Given the description of an element on the screen output the (x, y) to click on. 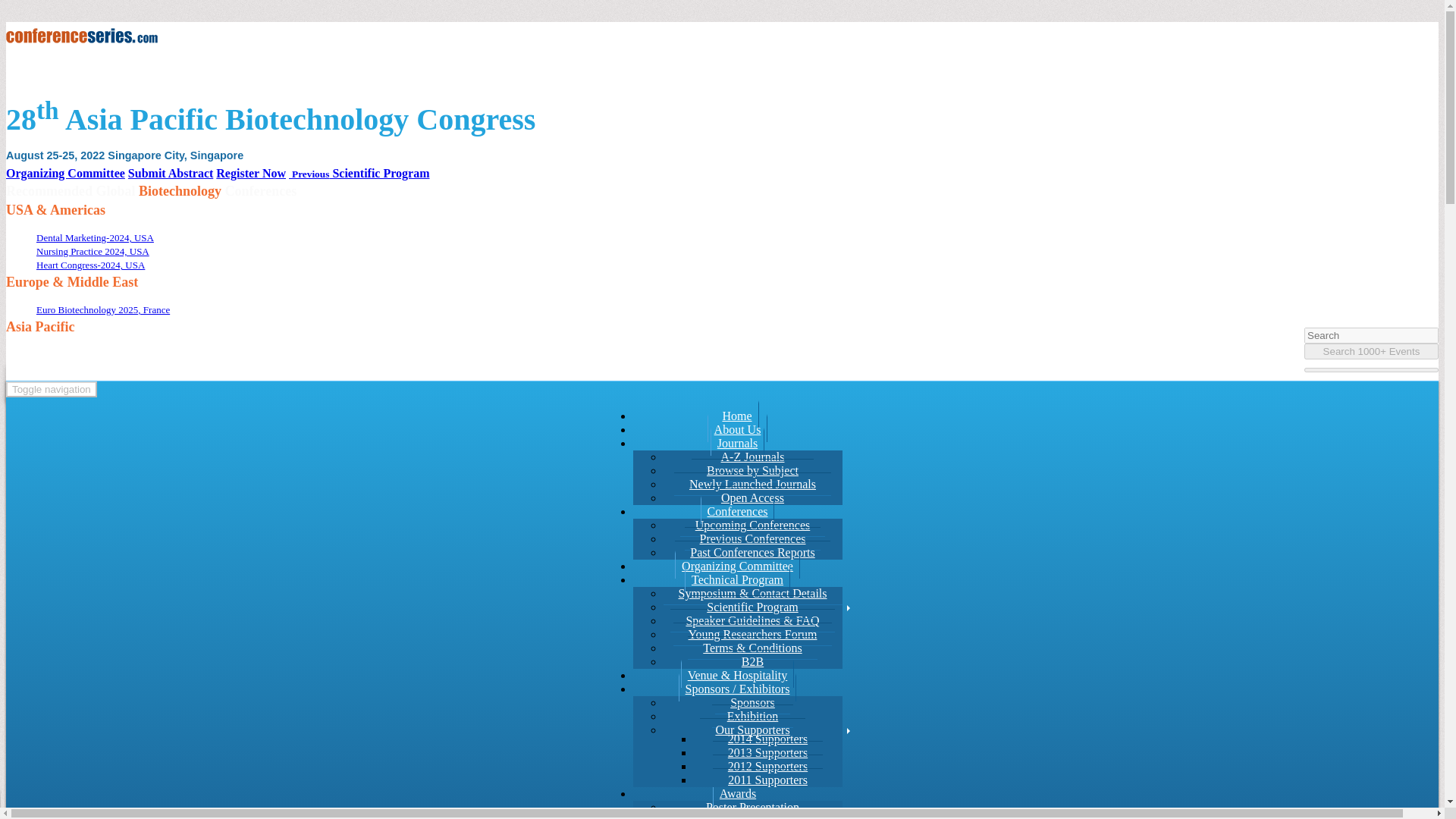
Upcoming Conferences (752, 525)
Explore Our Conferences (737, 510)
Home (737, 414)
Exhibition (752, 716)
Euro Biotechnology 2025, France (103, 309)
Past Conference Reports (752, 551)
Register Now (250, 173)
About Us (737, 428)
Open Access (752, 497)
Toggle navigation (51, 389)
 Previous Scientific Program (358, 173)
Newly Launched Journals (752, 484)
Our Supporters (752, 729)
Past Conferences Reports (752, 551)
Journals (737, 441)
